Given the description of an element on the screen output the (x, y) to click on. 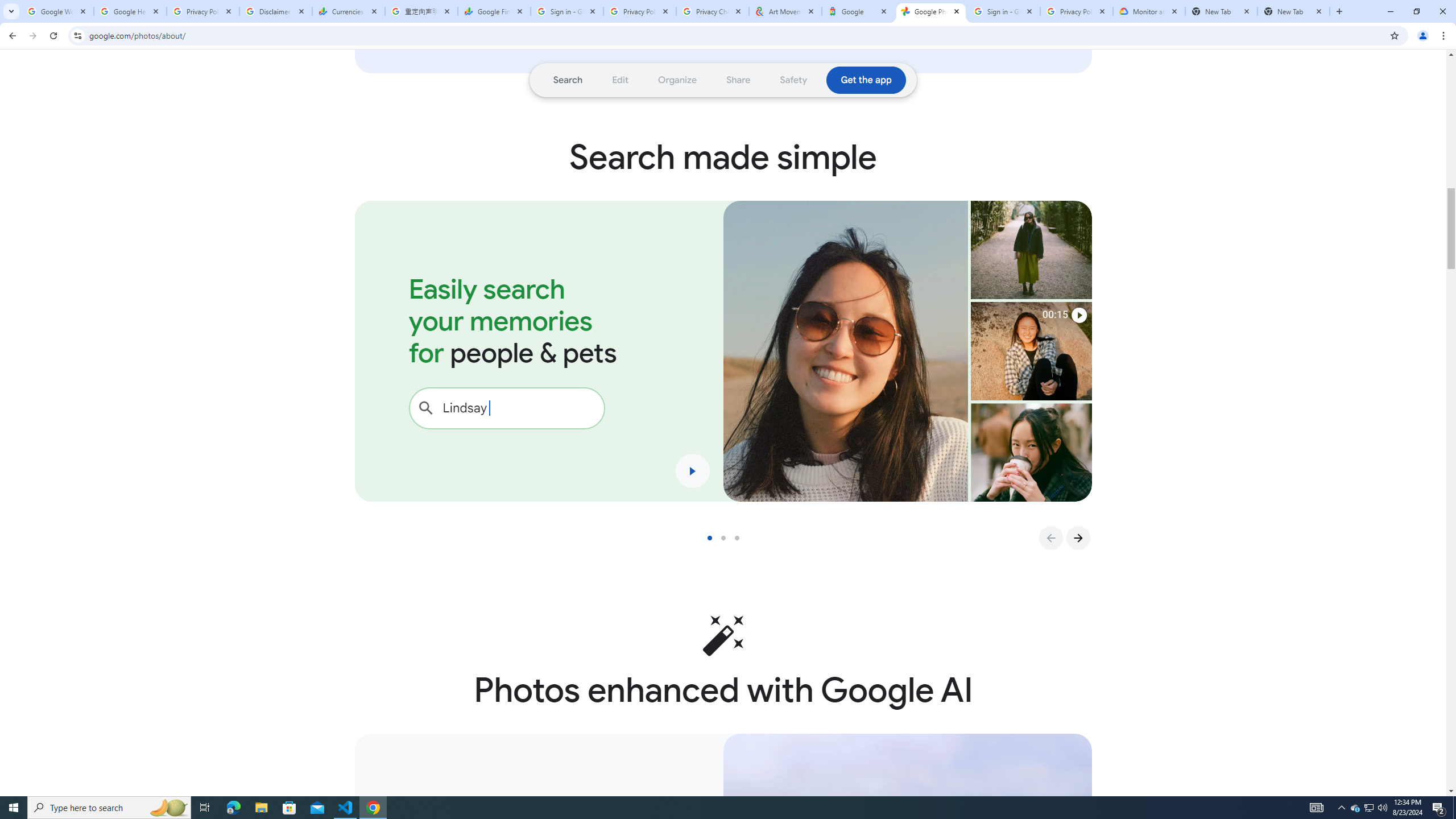
Go to Previous Slide (1050, 537)
Download the Google Photos app (866, 80)
Currencies - Google Finance (348, 11)
Go to section: Organize (677, 80)
Sign in - Google Accounts (1003, 11)
Google Workspace Admin Community (57, 11)
Wand with sparkles (723, 635)
Go to Next Slide (1077, 537)
New Tab (1293, 11)
